Given the description of an element on the screen output the (x, y) to click on. 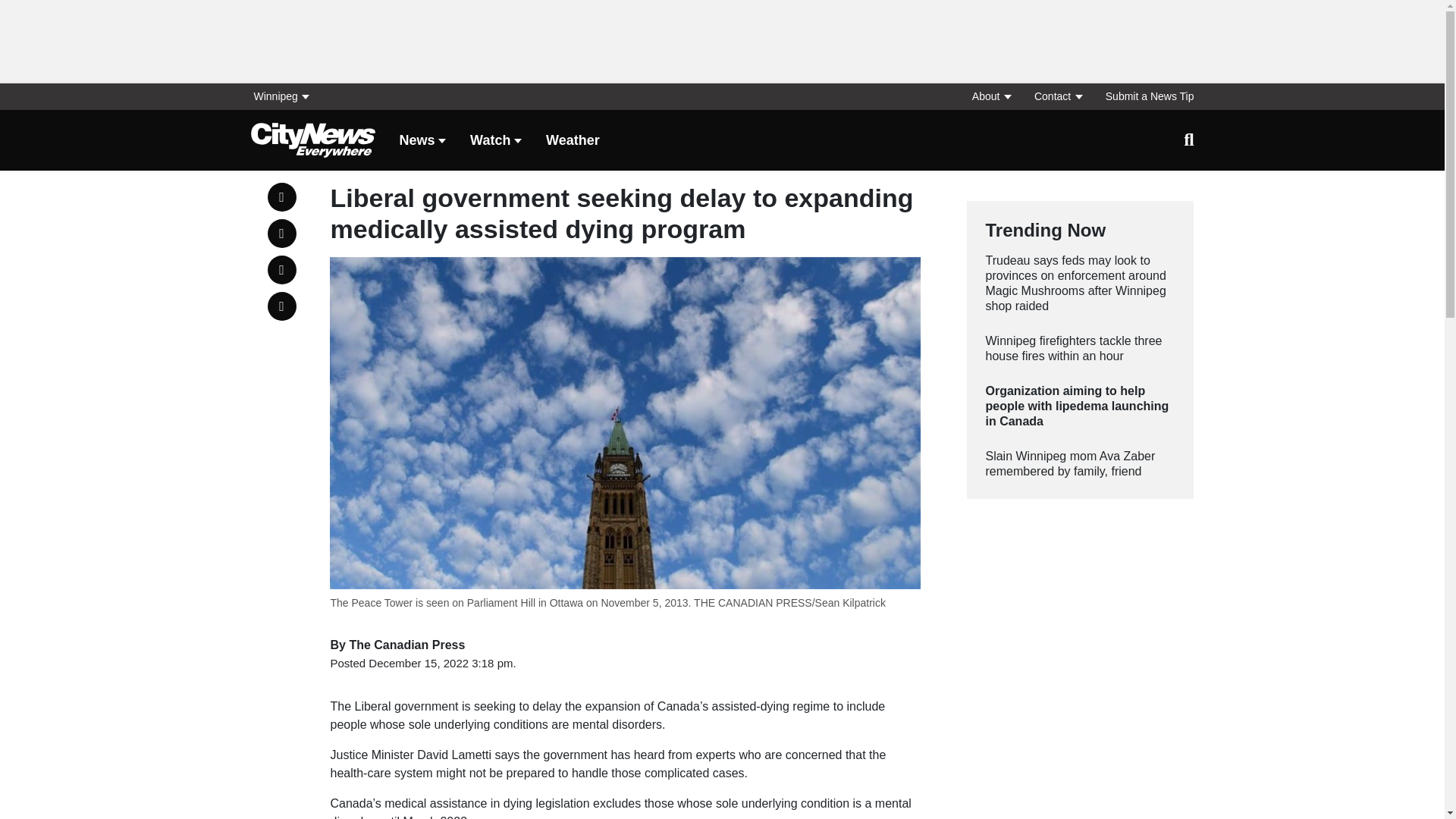
Submit a News Tip (1143, 96)
News (421, 140)
Watch (495, 140)
Winnipeg (285, 96)
Weather (572, 140)
About (990, 96)
Contact (1057, 96)
